Given the description of an element on the screen output the (x, y) to click on. 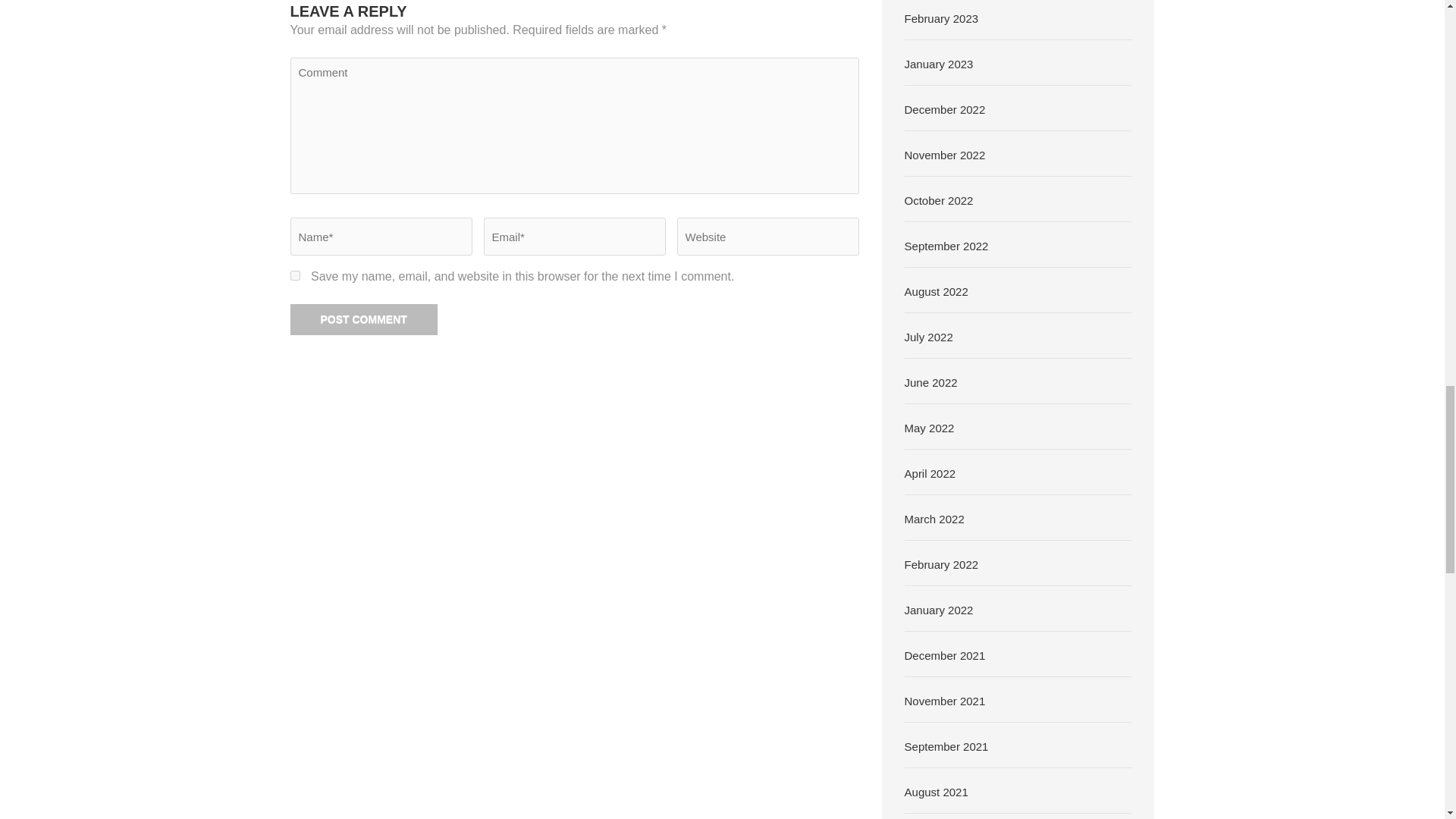
Post Comment (362, 318)
Post Comment (362, 318)
yes (294, 275)
